Given the description of an element on the screen output the (x, y) to click on. 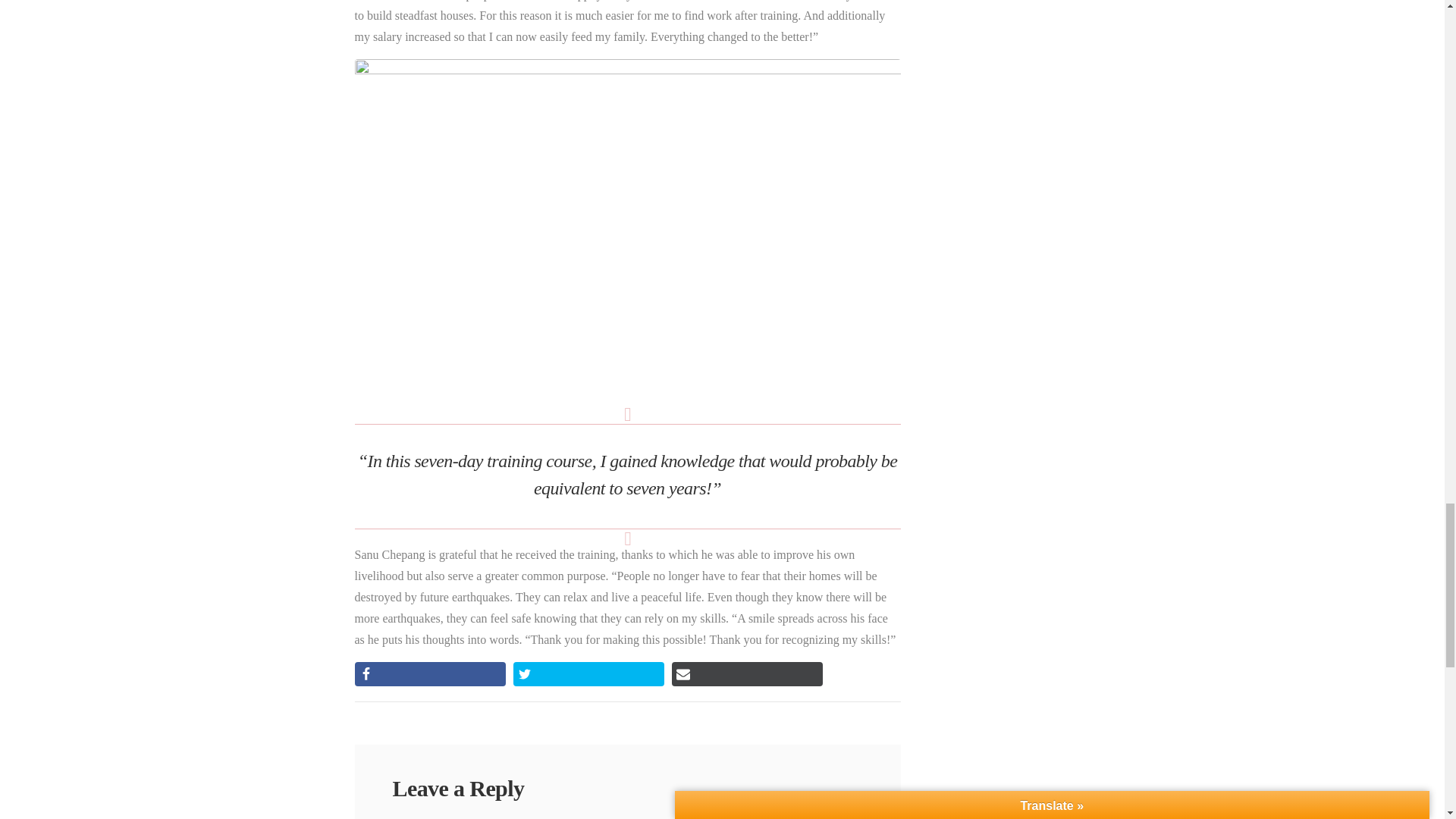
Share on Twitter (588, 673)
Share via Email (746, 673)
Share on Facebook (430, 673)
